Given the description of an element on the screen output the (x, y) to click on. 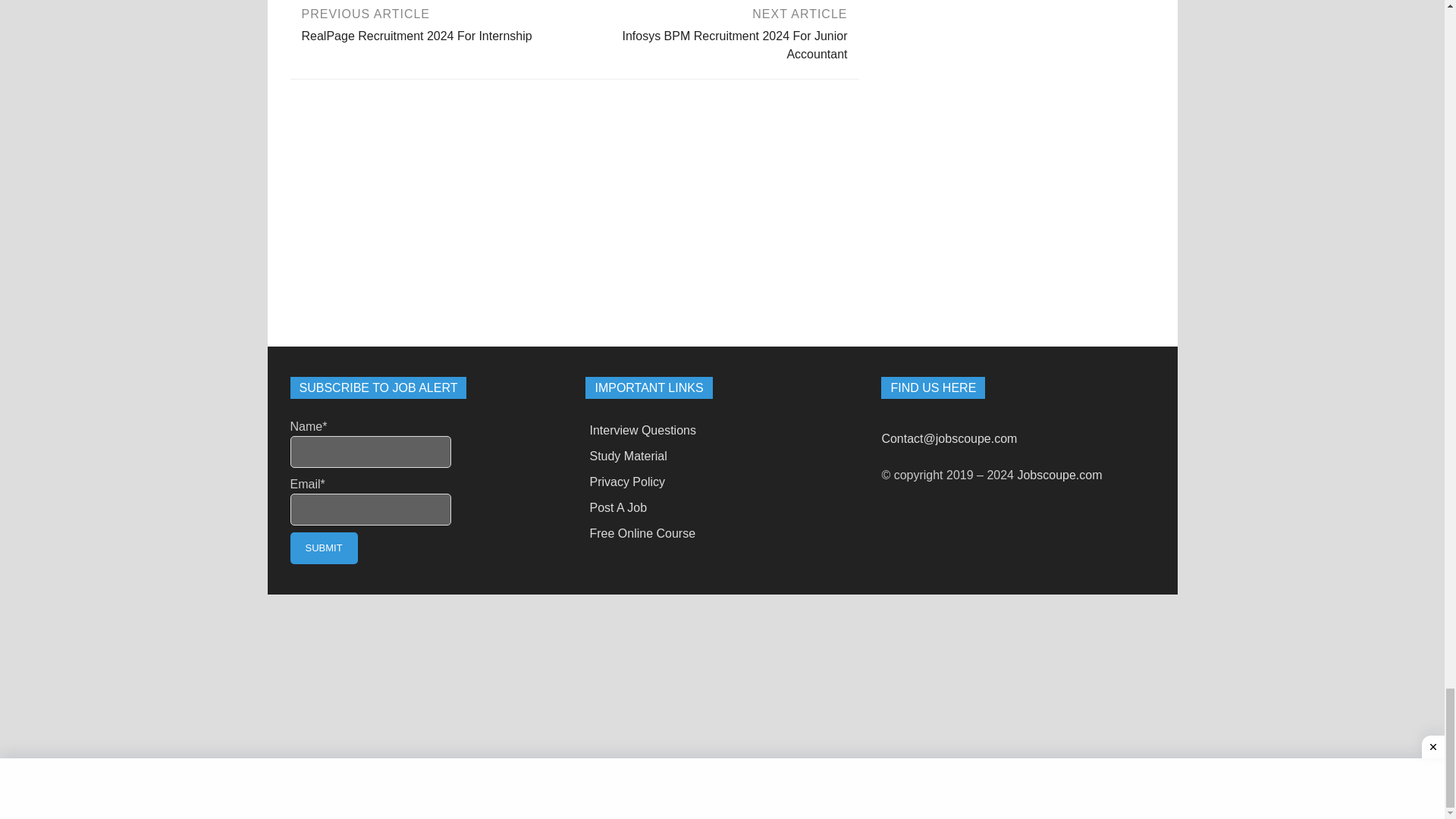
Submit (322, 548)
